Given the description of an element on the screen output the (x, y) to click on. 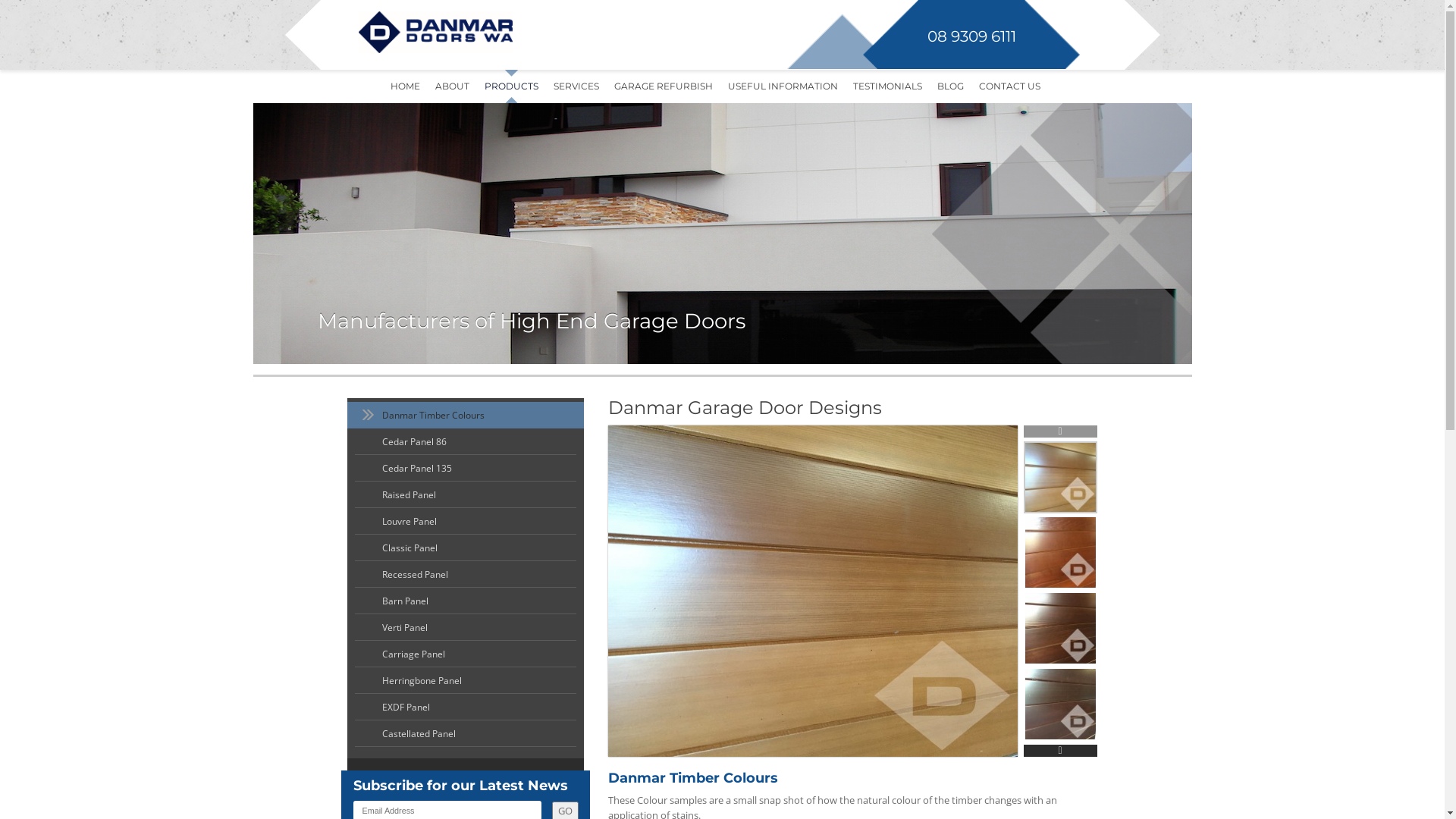
HOME Element type: text (404, 86)
USEFUL INFORMATION Element type: text (782, 86)
BLOG Element type: text (950, 86)
CONTACT US Element type: text (1008, 86)
Castellated Panel Element type: text (465, 733)
GARAGE REFURBISH Element type: text (663, 86)
Classic Panel Element type: text (465, 547)
TESTIMONIALS Element type: text (886, 86)
EXDF Panel Element type: text (465, 706)
Cedar Panel 86 Element type: text (465, 441)
Previous Element type: text (1060, 431)
PRODUCTS Element type: text (510, 86)
Barn Panel Element type: text (465, 600)
Next Element type: text (1060, 750)
 08 9309 6111 Element type: text (968, 35)
Herringbone Panel Element type: text (465, 680)
SERVICES Element type: text (576, 86)
Louvre Panel Element type: text (465, 521)
Recessed Panel Element type: text (465, 574)
DANMAR DOORS WA | DANMAR DOORS WA Element type: text (525, 32)
Raised Panel Element type: text (465, 494)
Cedar Panel 135 Element type: text (465, 468)
Carriage Panel Element type: text (465, 653)
Verti Panel Element type: text (465, 627)
ABOUT Element type: text (451, 86)
Danmar Timber Colours Element type: text (465, 414)
